Given the description of an element on the screen output the (x, y) to click on. 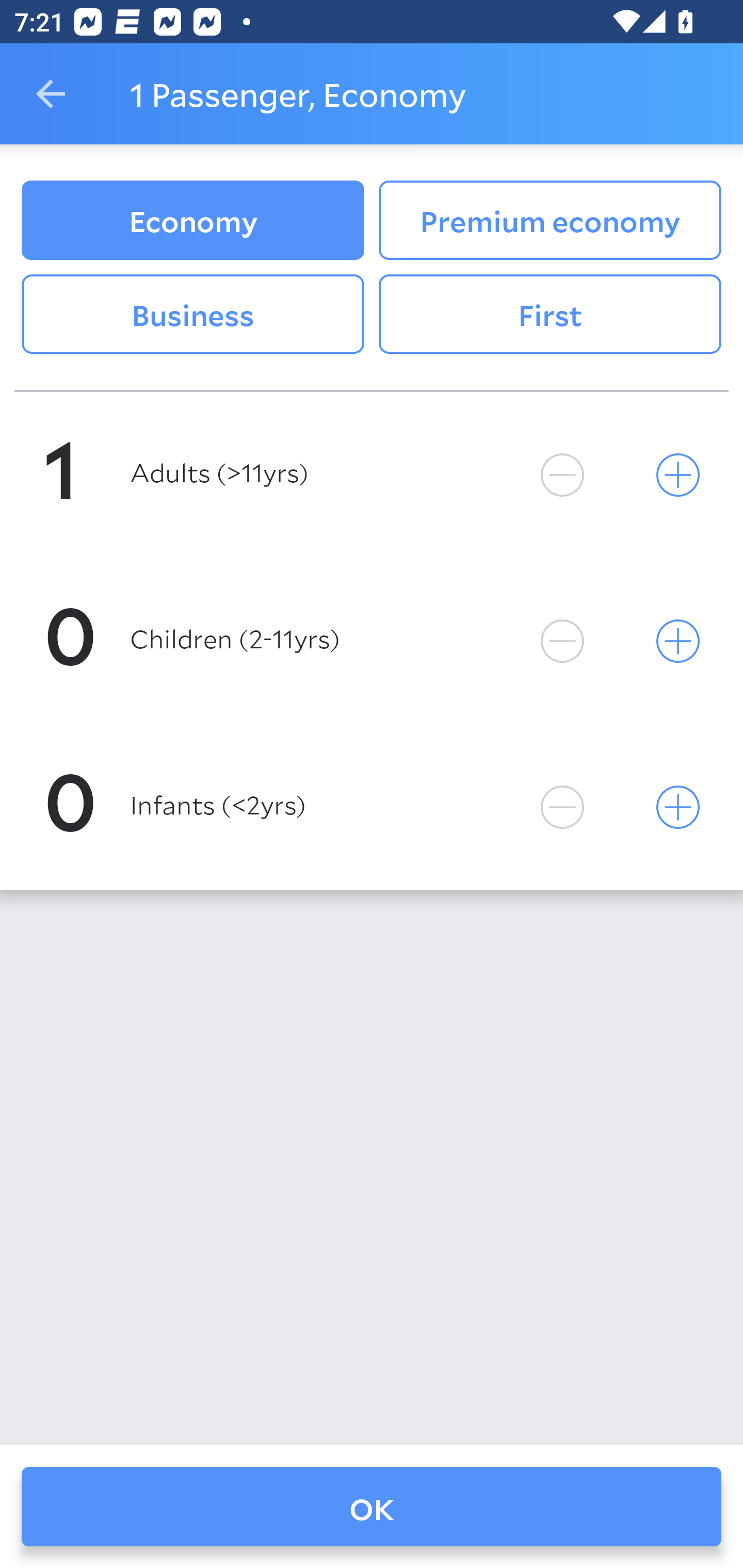
Navigate up (50, 93)
Economy (192, 220)
Premium economy (549, 220)
Business (192, 314)
First (549, 314)
OK (371, 1506)
